Given the description of an element on the screen output the (x, y) to click on. 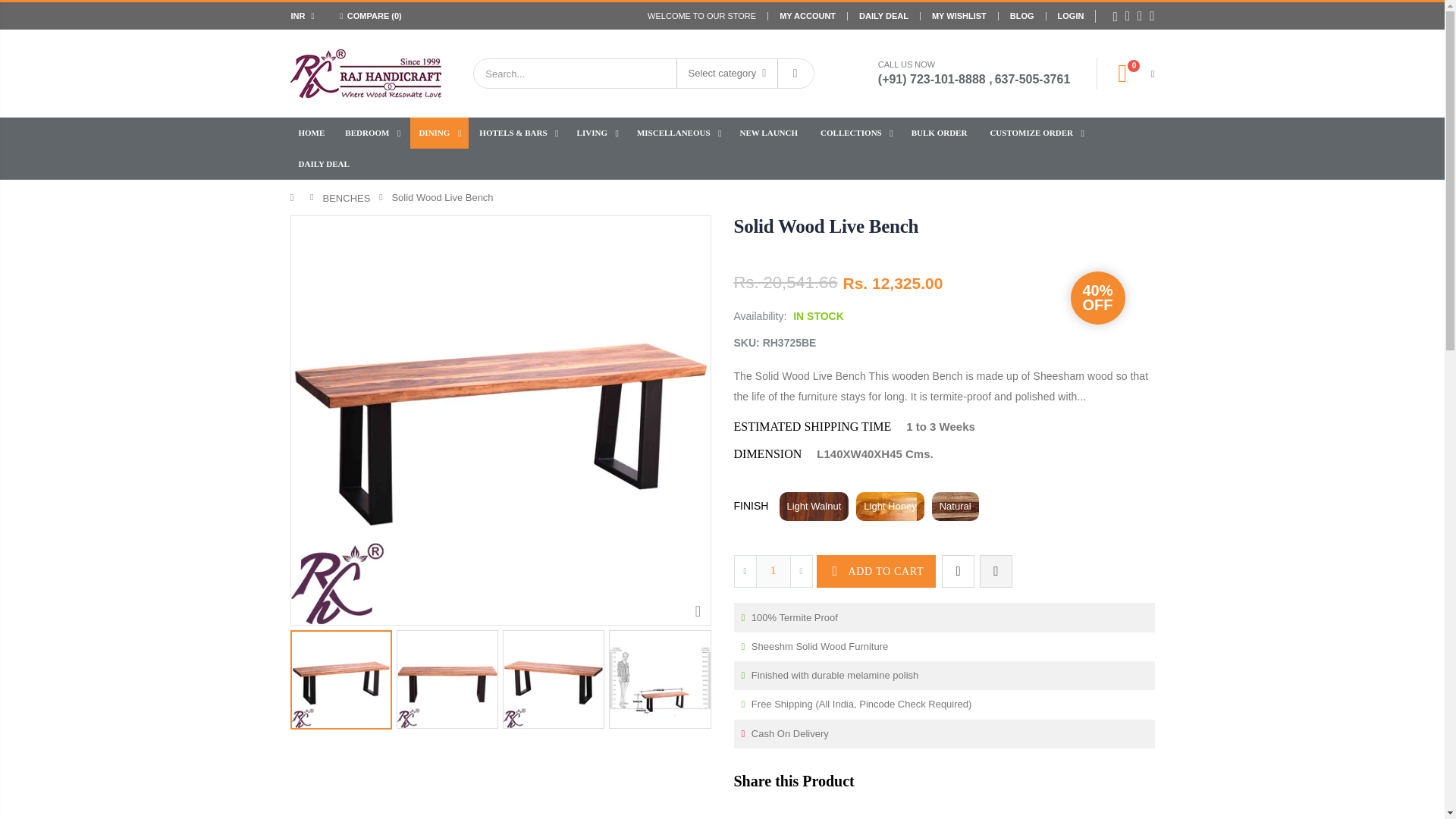
0 (1129, 73)
DAILY DEAL (883, 15)
Add to compare (995, 571)
Select category (727, 72)
Select category (727, 72)
Add to wishlist (958, 571)
MY ACCOUNT (806, 15)
Back to the frontpage (295, 197)
INR (304, 15)
BLOG (1021, 15)
637-505-3761 (1032, 77)
1 (772, 571)
LOGIN (1071, 15)
MY WISHLIST (959, 15)
